Given the description of an element on the screen output the (x, y) to click on. 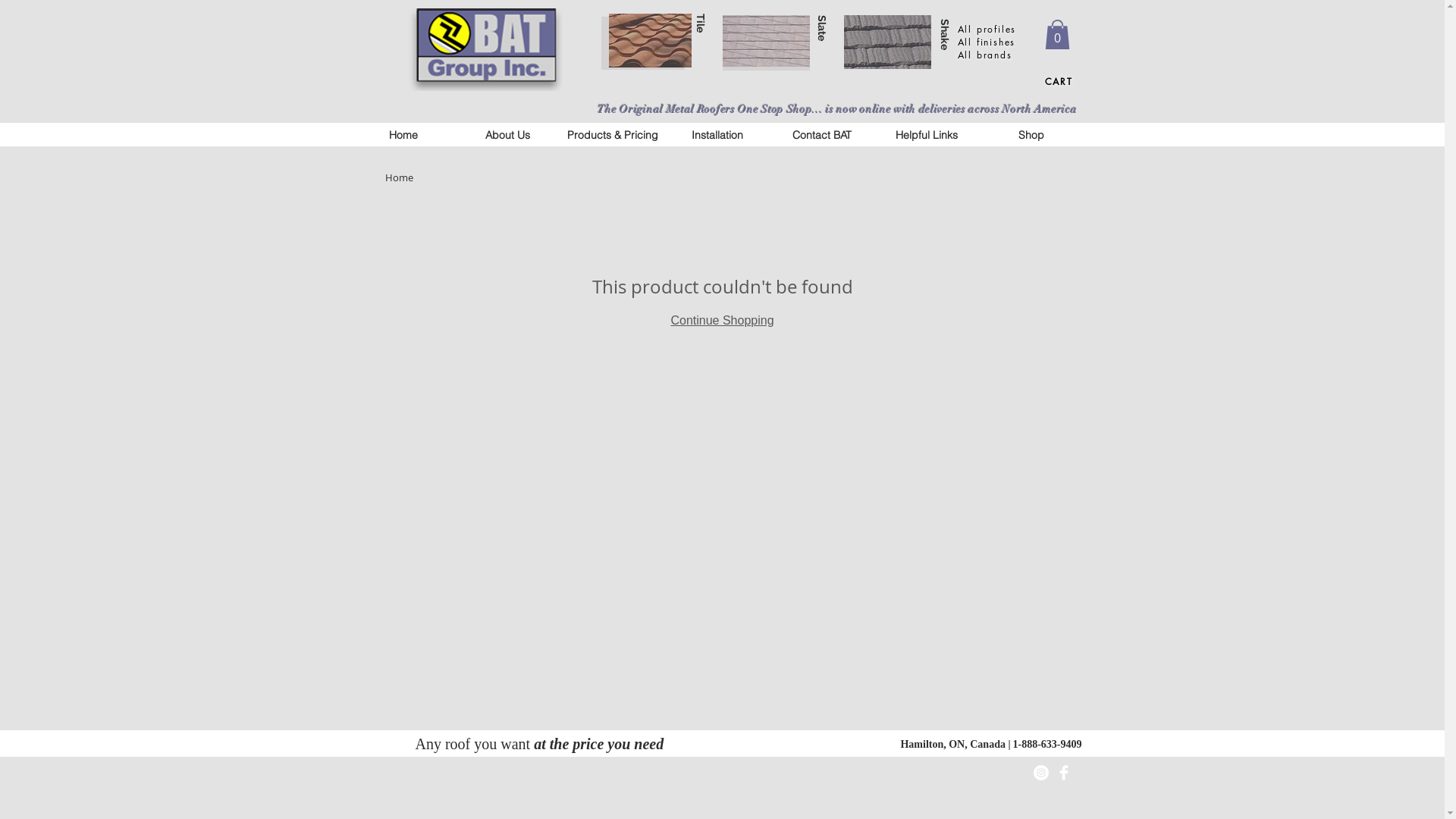
Continue Shopping Element type: text (721, 319)
Shop Element type: text (1031, 134)
0 Element type: text (1057, 34)
Slate Element type: text (821, 27)
Installation Element type: text (717, 134)
Hamilton, ON, Canada | Element type: text (955, 743)
Tile Element type: text (700, 22)
at the price you need Element type: text (598, 743)
About Us Element type: text (508, 134)
Home Element type: text (399, 177)
  Shake   Element type: text (944, 34)
Contact BAT Element type: text (821, 134)
Home Element type: text (403, 134)
logo_22.png Element type: hover (484, 49)
1-888-633-9409 Element type: text (1047, 743)
Helpful Links Element type: text (926, 134)
Products & Pricing Element type: text (612, 134)
